Given the description of an element on the screen output the (x, y) to click on. 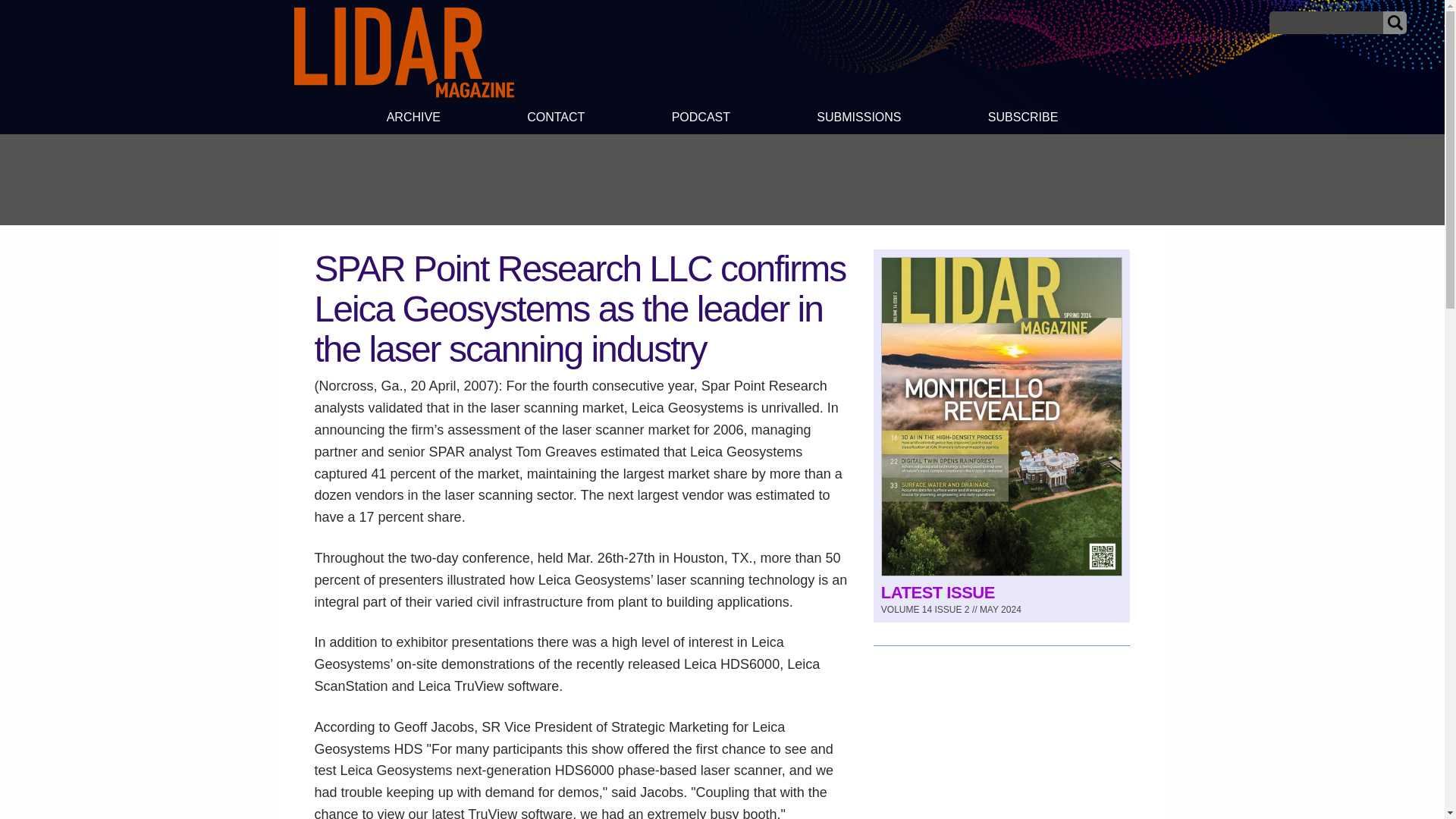
Submit (1394, 22)
SUBMISSIONS (858, 119)
LIDAR Magazine (403, 92)
ARCHIVE (412, 119)
3rd party ad content (721, 179)
3rd party ad content (1001, 744)
LIDAR Magazine (403, 52)
SUBSCRIBE (1023, 119)
Submit (1394, 22)
CONTACT (555, 119)
PODCAST (700, 119)
Search for: (1326, 22)
Submit (1394, 22)
